Given the description of an element on the screen output the (x, y) to click on. 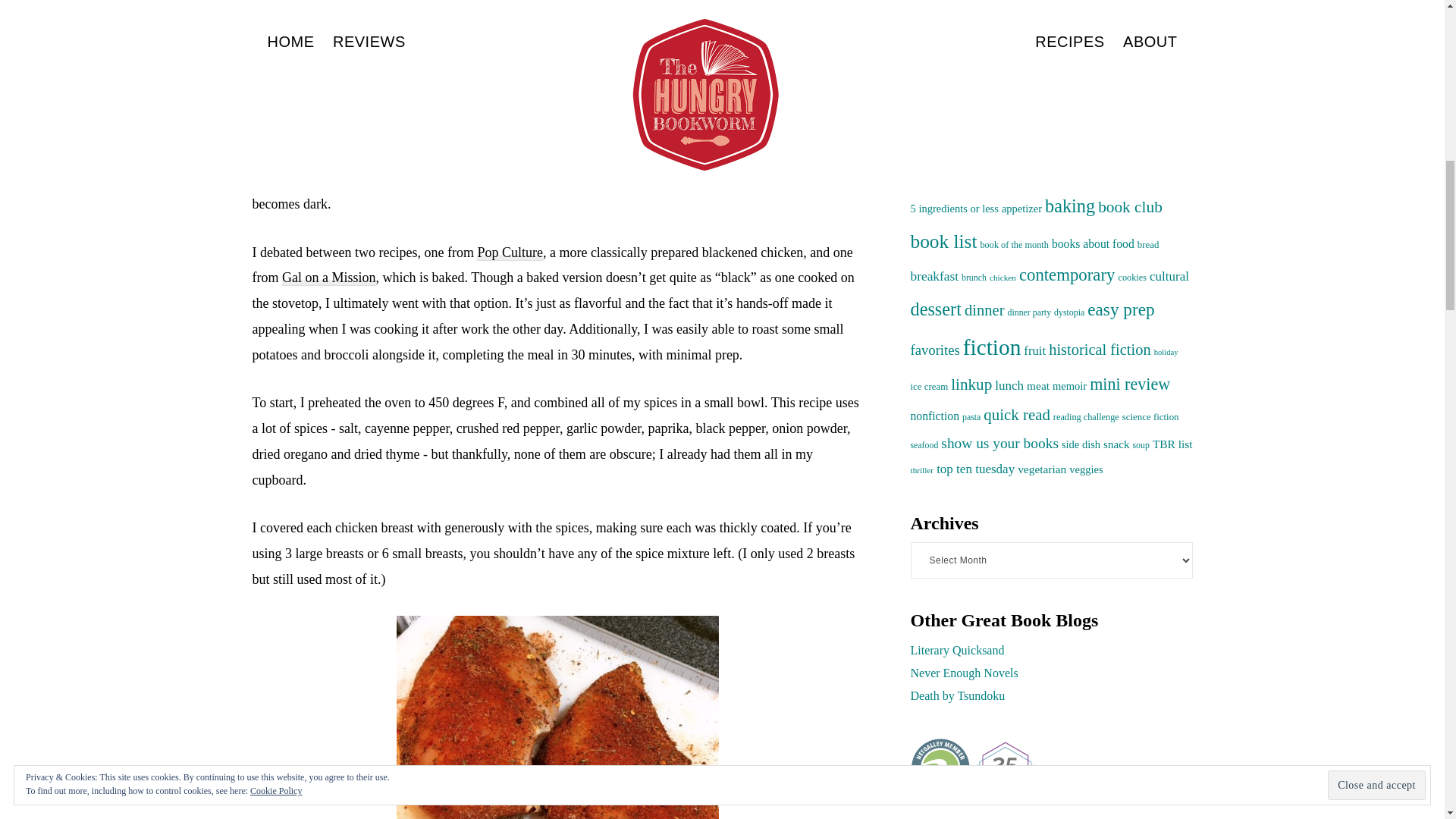
Pop Culture (510, 252)
Professional Reader (940, 767)
25 Book Reviews (1003, 767)
Gal on a Mission (328, 277)
